Given the description of an element on the screen output the (x, y) to click on. 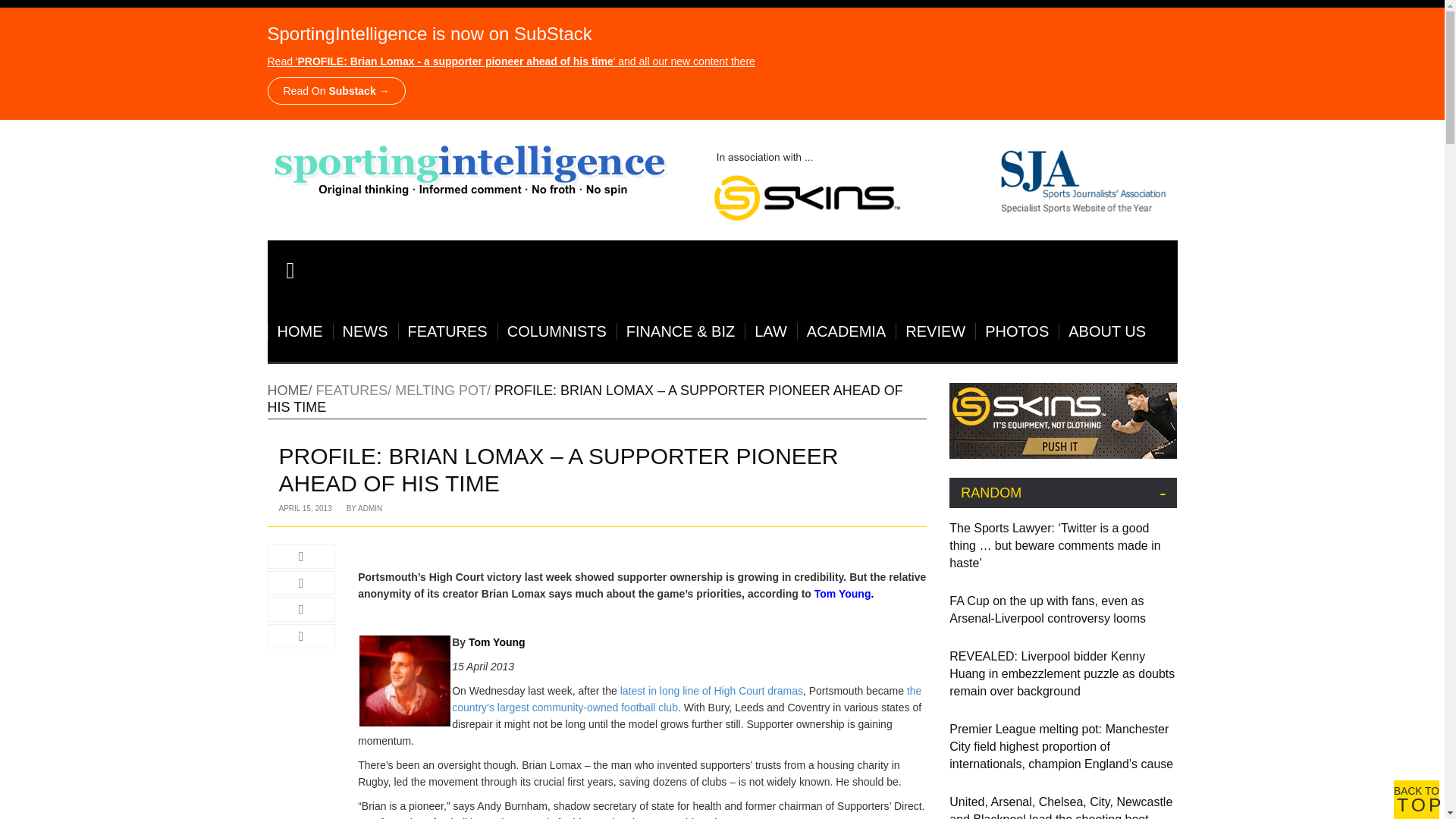
admin (369, 508)
Share this post via Facebook (300, 556)
Specialist Sports Website of the Year (935, 182)
Share this post via Pinterest (300, 636)
Share this post via Google plus (300, 609)
Sporting Intelligence (470, 168)
Tom Young (404, 680)
Share this post via Twitter (300, 582)
